Given the description of an element on the screen output the (x, y) to click on. 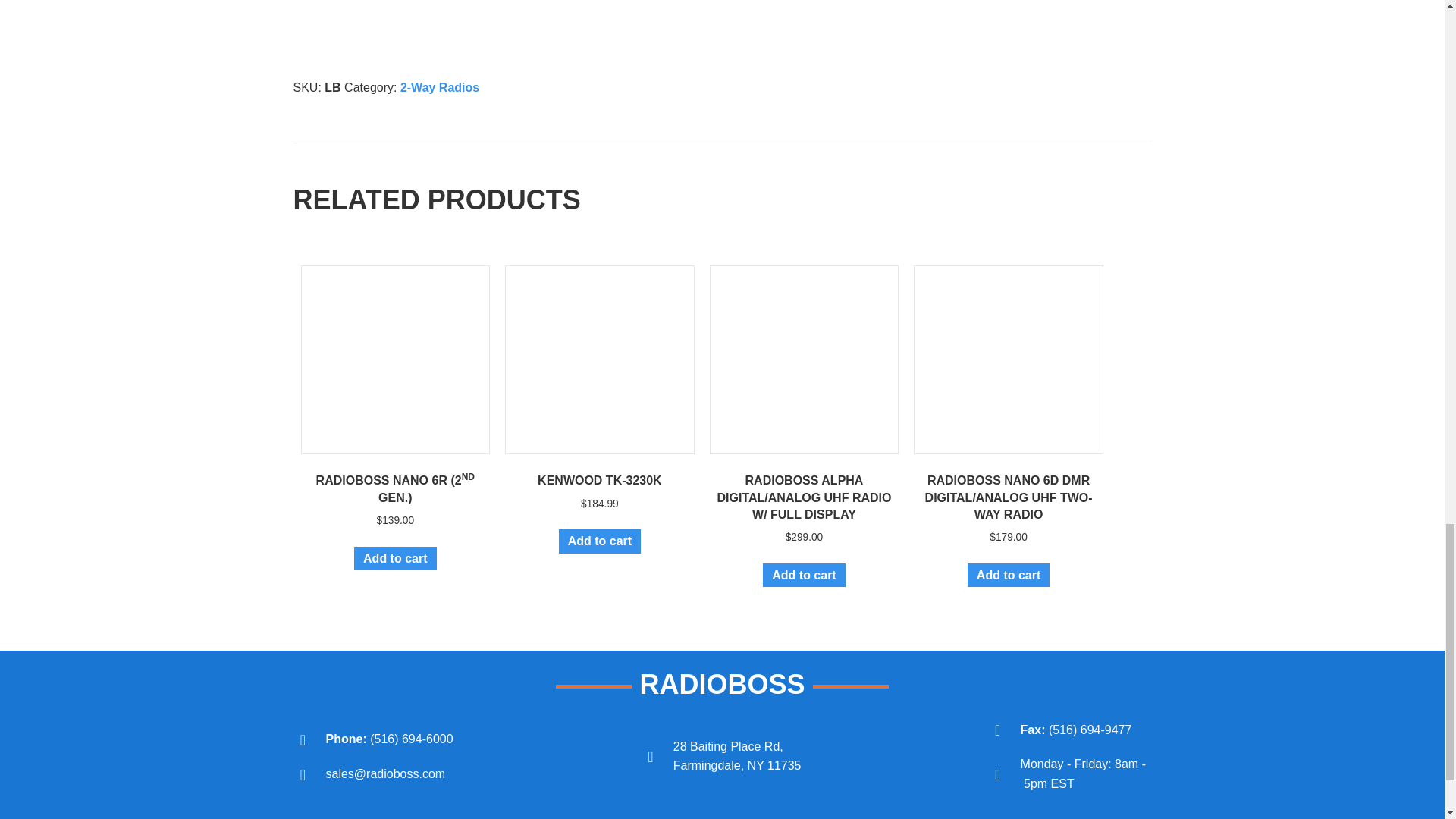
RADIOBOSS (721, 684)
Add to cart (394, 558)
Add to cart (1008, 575)
Add to cart (803, 575)
Add to cart (599, 540)
2-Way Radios (439, 87)
